Given the description of an element on the screen output the (x, y) to click on. 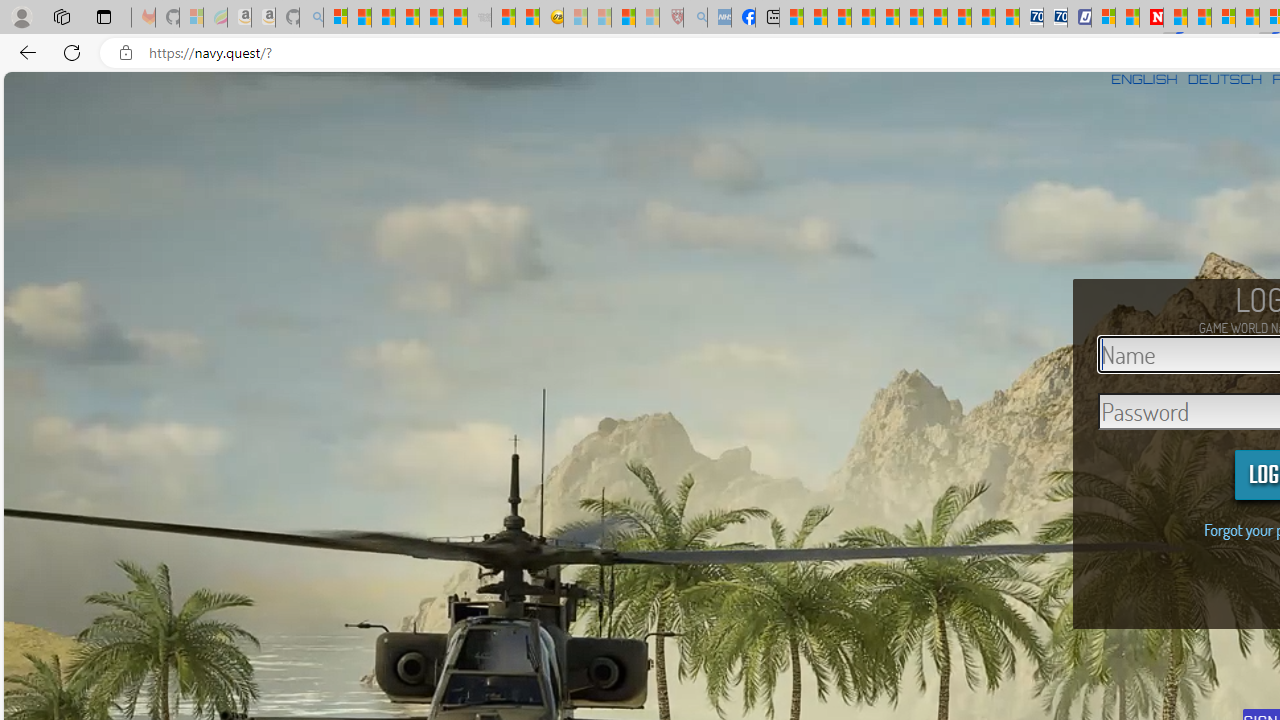
Science - MSN (622, 17)
Stocks - MSN (455, 17)
World - MSN (839, 17)
12 Popular Science Lies that Must be Corrected - Sleeping (647, 17)
